Given the description of an element on the screen output the (x, y) to click on. 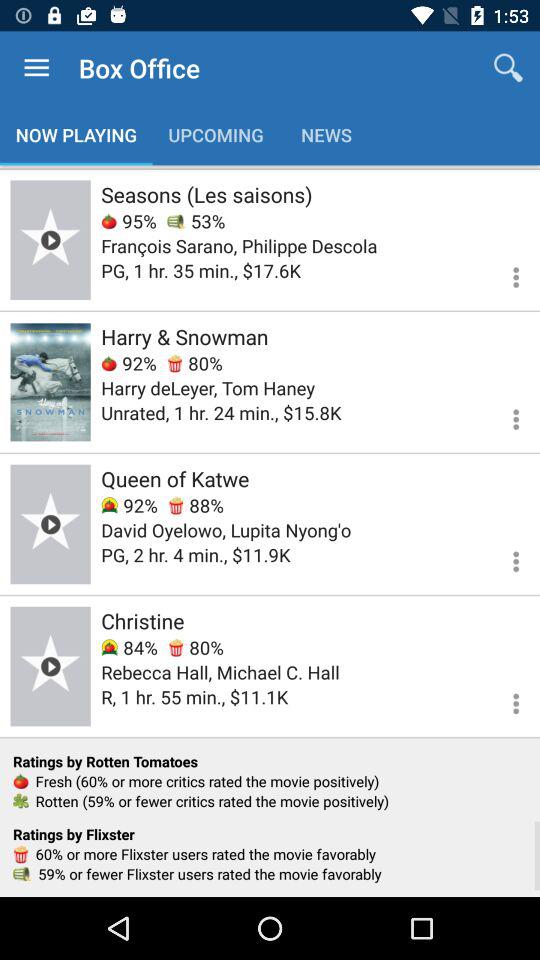
launch the item below seasons (les saisons) icon (196, 220)
